Given the description of an element on the screen output the (x, y) to click on. 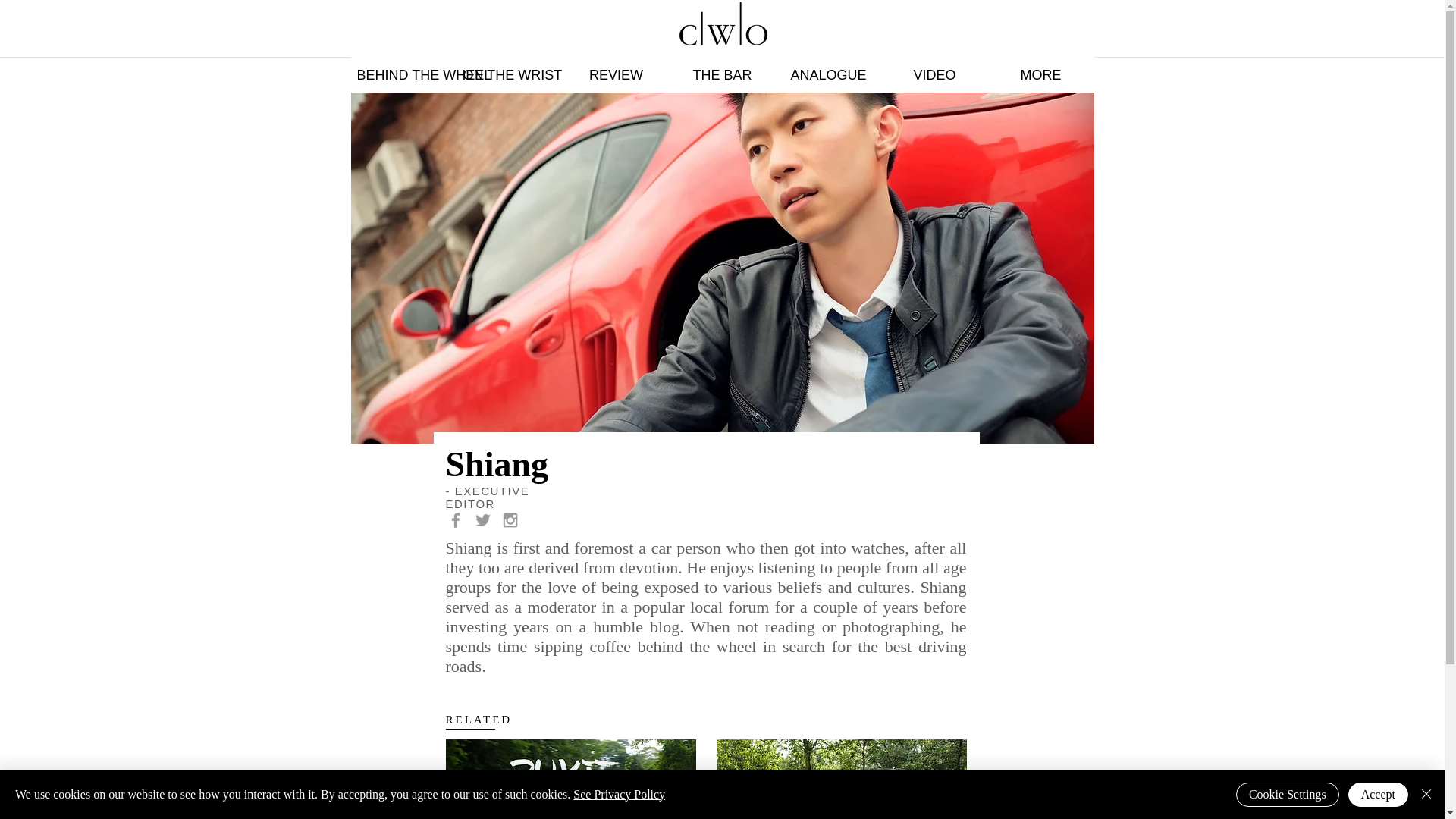
THE BAR (721, 67)
BEHIND THE WHEEL (403, 67)
ANALOGUE (827, 67)
ON THE WRIST (509, 67)
REVIEW (615, 67)
